Given the description of an element on the screen output the (x, y) to click on. 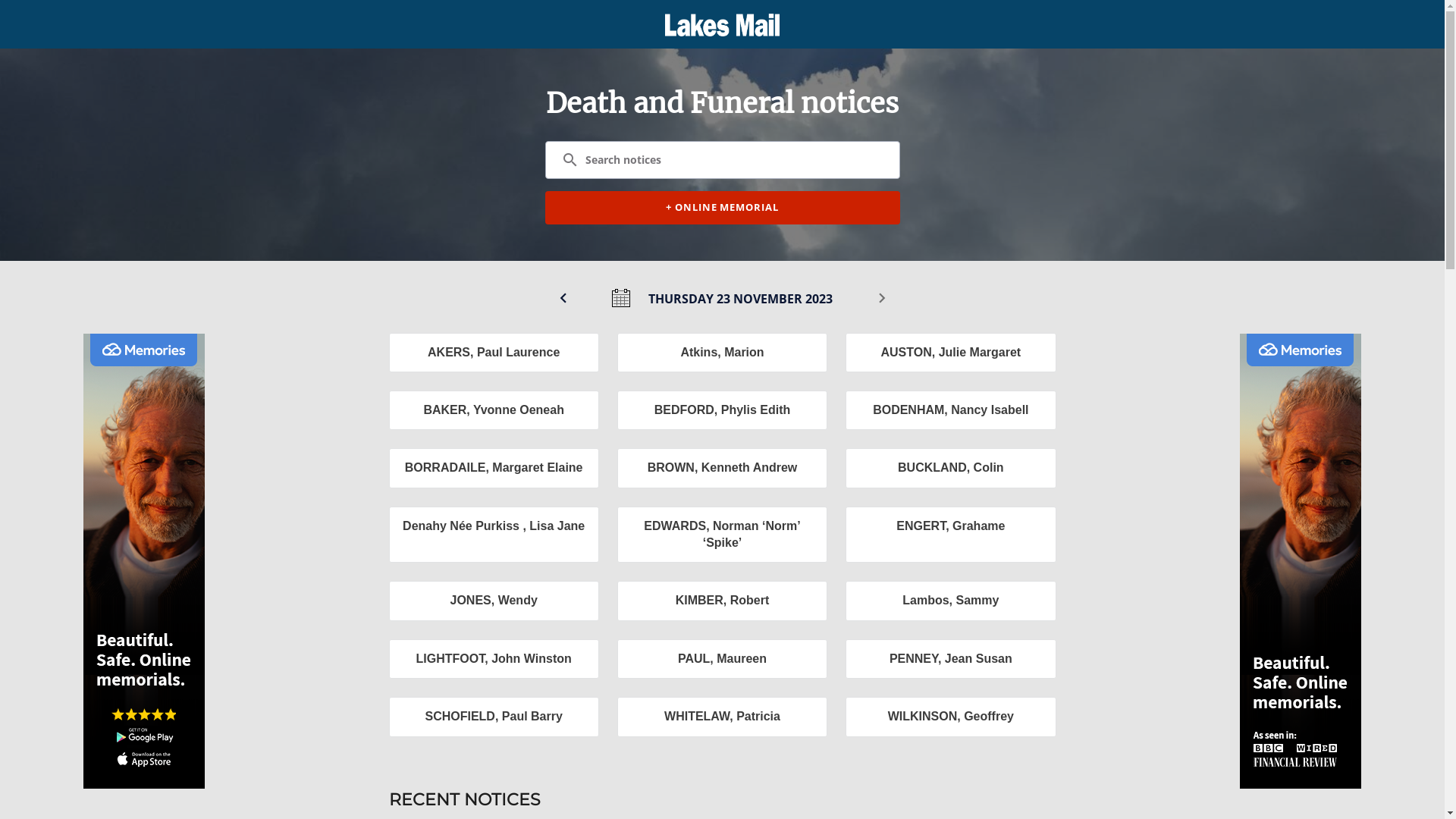
BUCKLAND, Colin Element type: text (950, 467)
PENNEY, Jean Susan Element type: text (950, 658)
BORRADAILE, Margaret Elaine Element type: text (493, 467)
AKERS, Paul Laurence Element type: text (493, 352)
SCHOFIELD, Paul Barry Element type: text (493, 716)
+ ONLINE MEMORIAL Element type: text (721, 207)
JONES, Wendy Element type: text (493, 600)
AUSTON, Julie Margaret Element type: text (950, 352)
WHITELAW, Patricia Element type: text (722, 716)
BEDFORD, Phylis Edith Element type: text (722, 409)
BODENHAM, Nancy Isabell Element type: text (950, 409)
WILKINSON, Geoffrey Element type: text (950, 716)
Lambos, Sammy Element type: text (950, 600)
ENGERT, Grahame Element type: text (950, 534)
LIGHTFOOT, John Winston Element type: text (493, 658)
BAKER, Yvonne Oeneah Element type: text (493, 409)
BROWN, Kenneth Andrew Element type: text (722, 467)
PAUL, Maureen Element type: text (722, 658)
Atkins, Marion Element type: text (722, 352)
KIMBER, Robert Element type: text (722, 600)
